Given the description of an element on the screen output the (x, y) to click on. 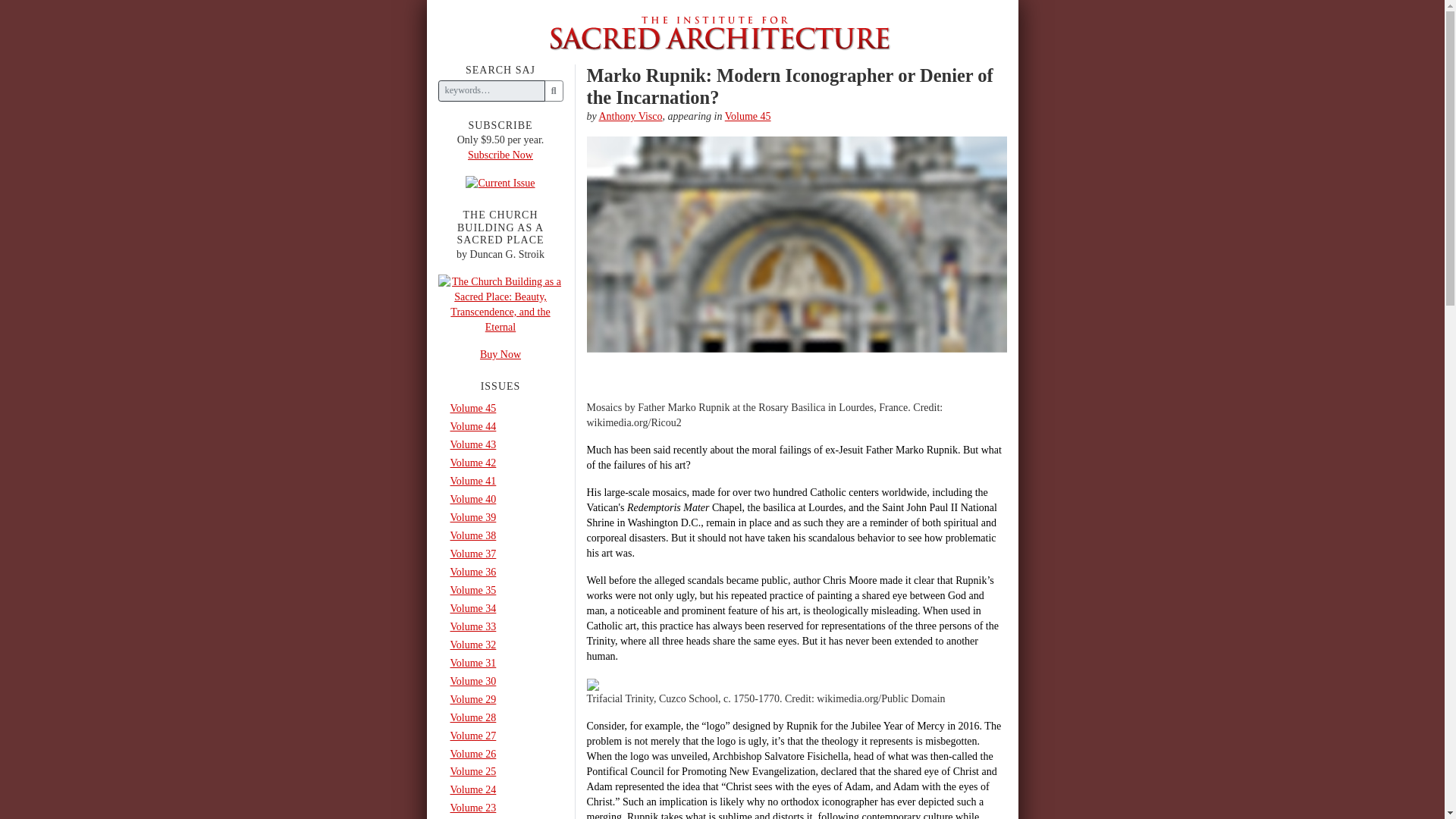
Volume 45 (748, 116)
Subscribe Now (499, 154)
Volume 42 (500, 463)
Volume 31 (500, 663)
Anthony Visco (630, 116)
Anthony Visco (630, 116)
Volume 26 (500, 753)
Volume 37 (500, 554)
Volume 23 (500, 808)
Volume 43 (500, 444)
